Given the description of an element on the screen output the (x, y) to click on. 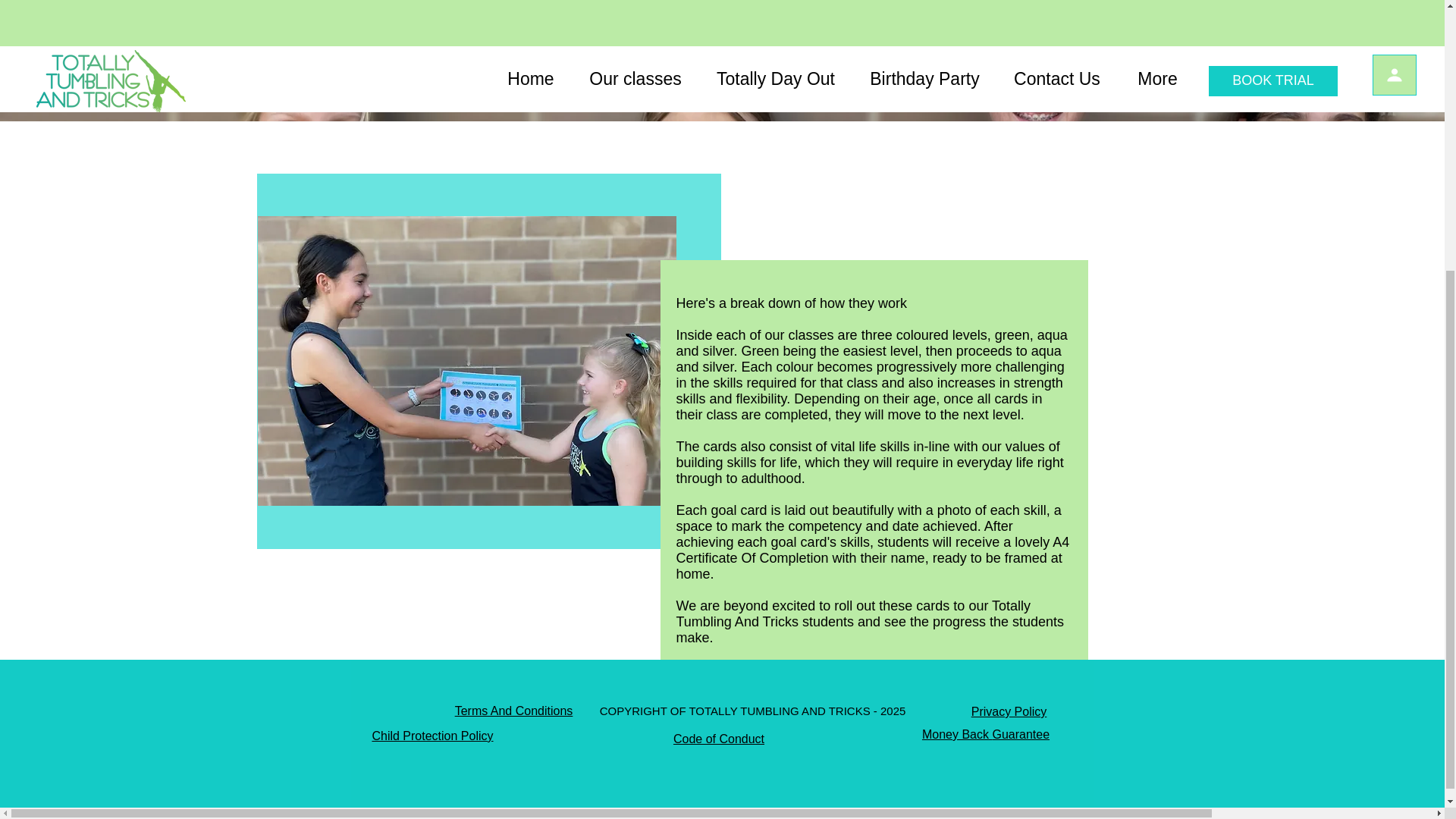
Child Protection Policy (432, 735)
Code of Conduct (718, 738)
Money Back Guarantee (985, 734)
Terms And Conditions (513, 710)
Privacy Policy (1008, 711)
